Given the description of an element on the screen output the (x, y) to click on. 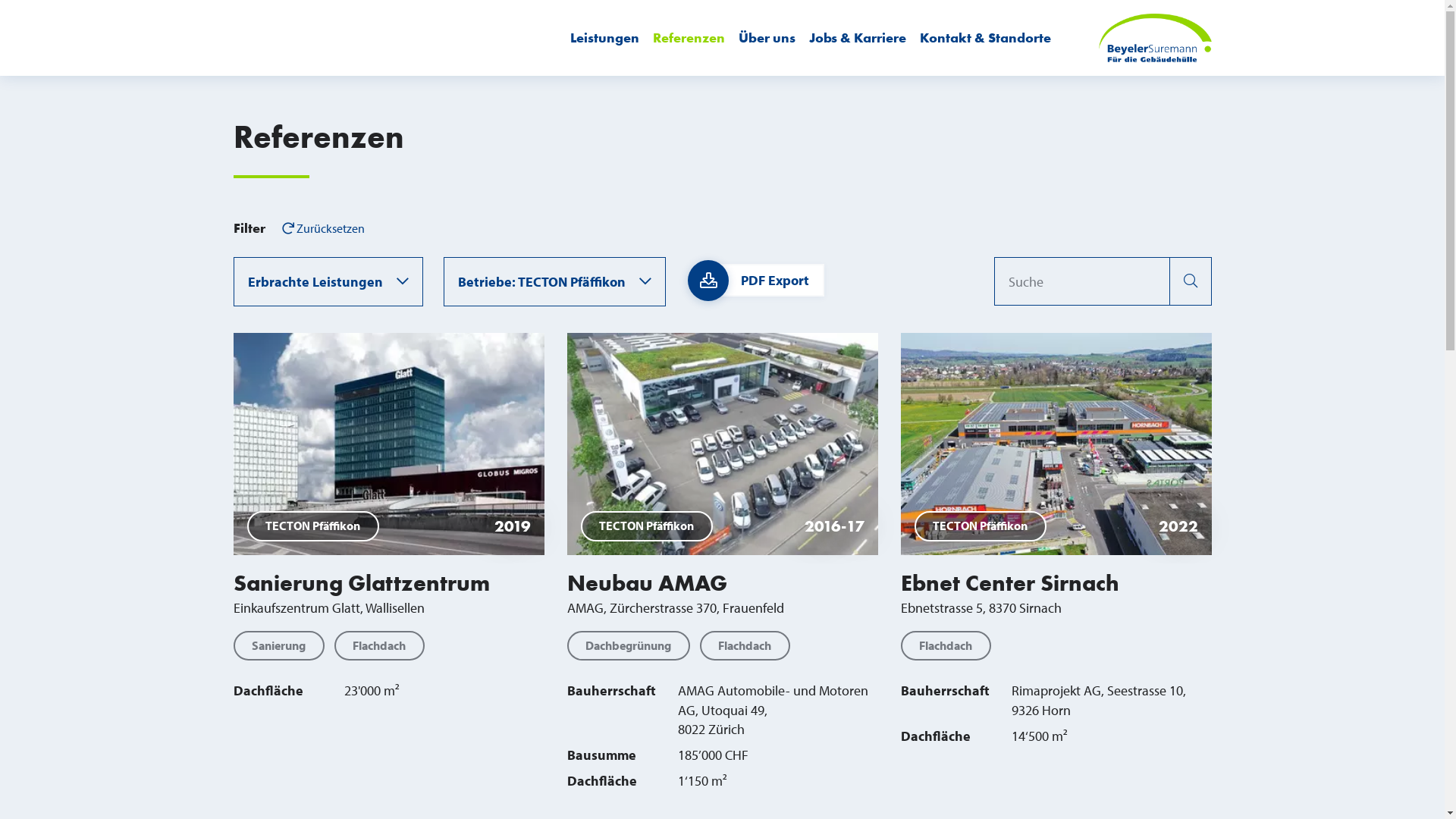
Jetzt Suchen Element type: hover (1190, 280)
Flachdach Element type: text (378, 645)
Leistungen Element type: text (604, 37)
Referenzen Element type: text (688, 37)
Kontakt & Standorte Element type: text (985, 37)
Flachdach Element type: text (744, 645)
Sanierung Element type: text (278, 645)
Erbrachte Leistungen Element type: text (328, 281)
PDF Export Element type: text (765, 279)
Jobs & Karriere Element type: text (857, 37)
Flachdach Element type: text (945, 645)
